Given the description of an element on the screen output the (x, y) to click on. 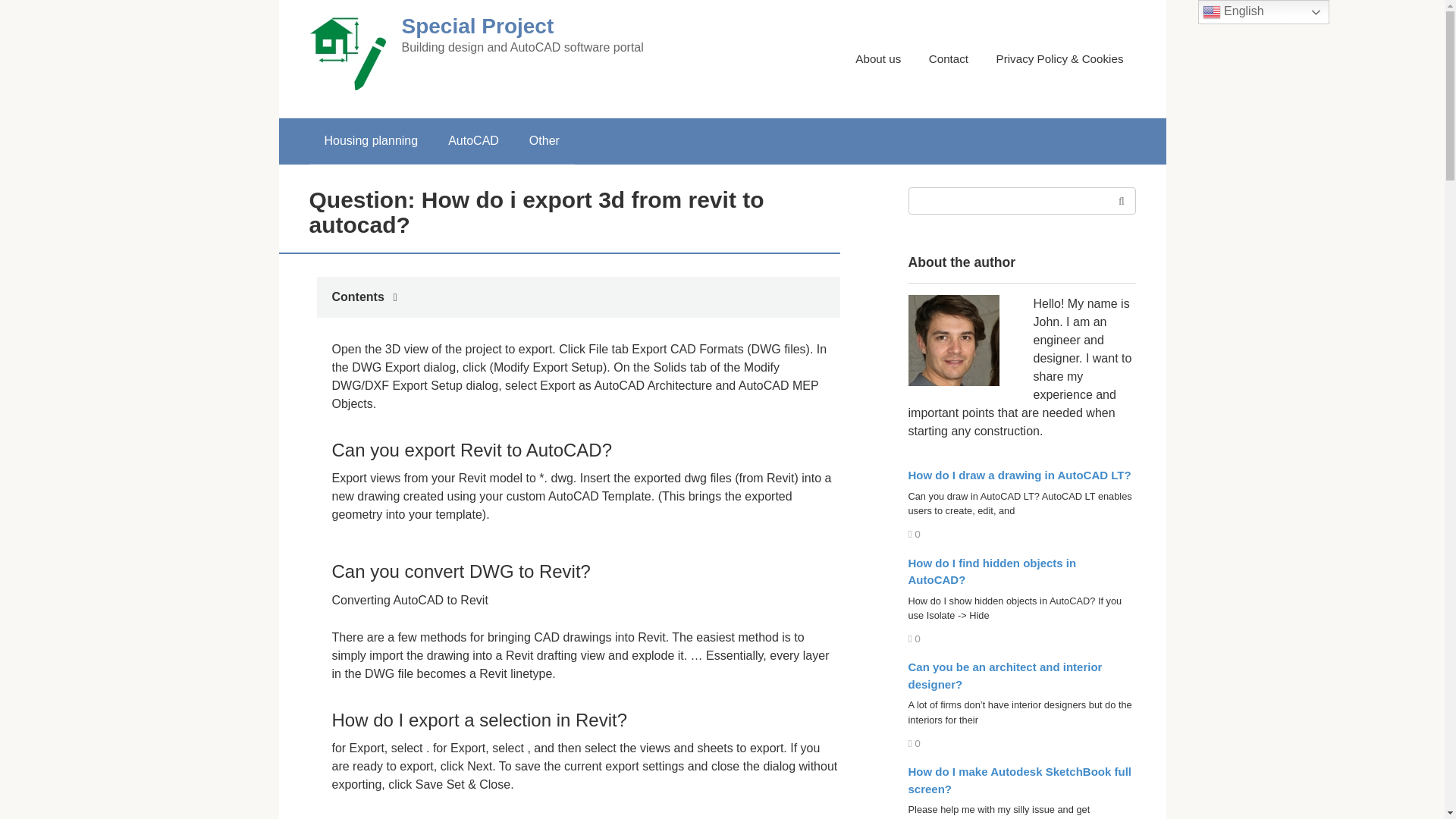
Comments (914, 533)
Special Project (477, 25)
Comments (914, 743)
About us (878, 59)
How do I find hidden objects in AutoCAD? (992, 571)
Can you be an architect and interior designer? (1005, 675)
Other (544, 140)
Contact (948, 59)
How do I draw a drawing in AutoCAD LT? (1019, 474)
